Given the description of an element on the screen output the (x, y) to click on. 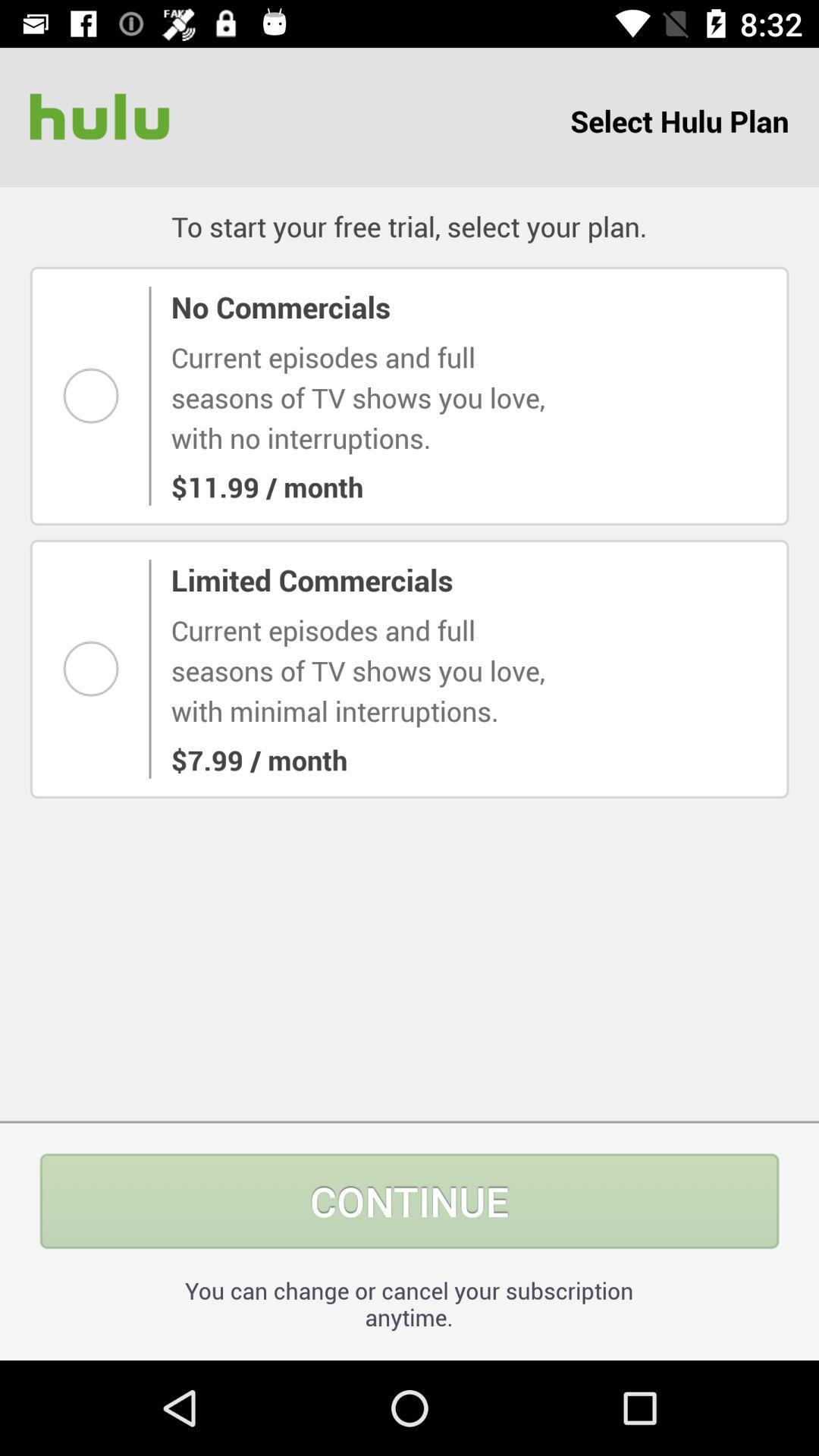
option button (96, 668)
